Given the description of an element on the screen output the (x, y) to click on. 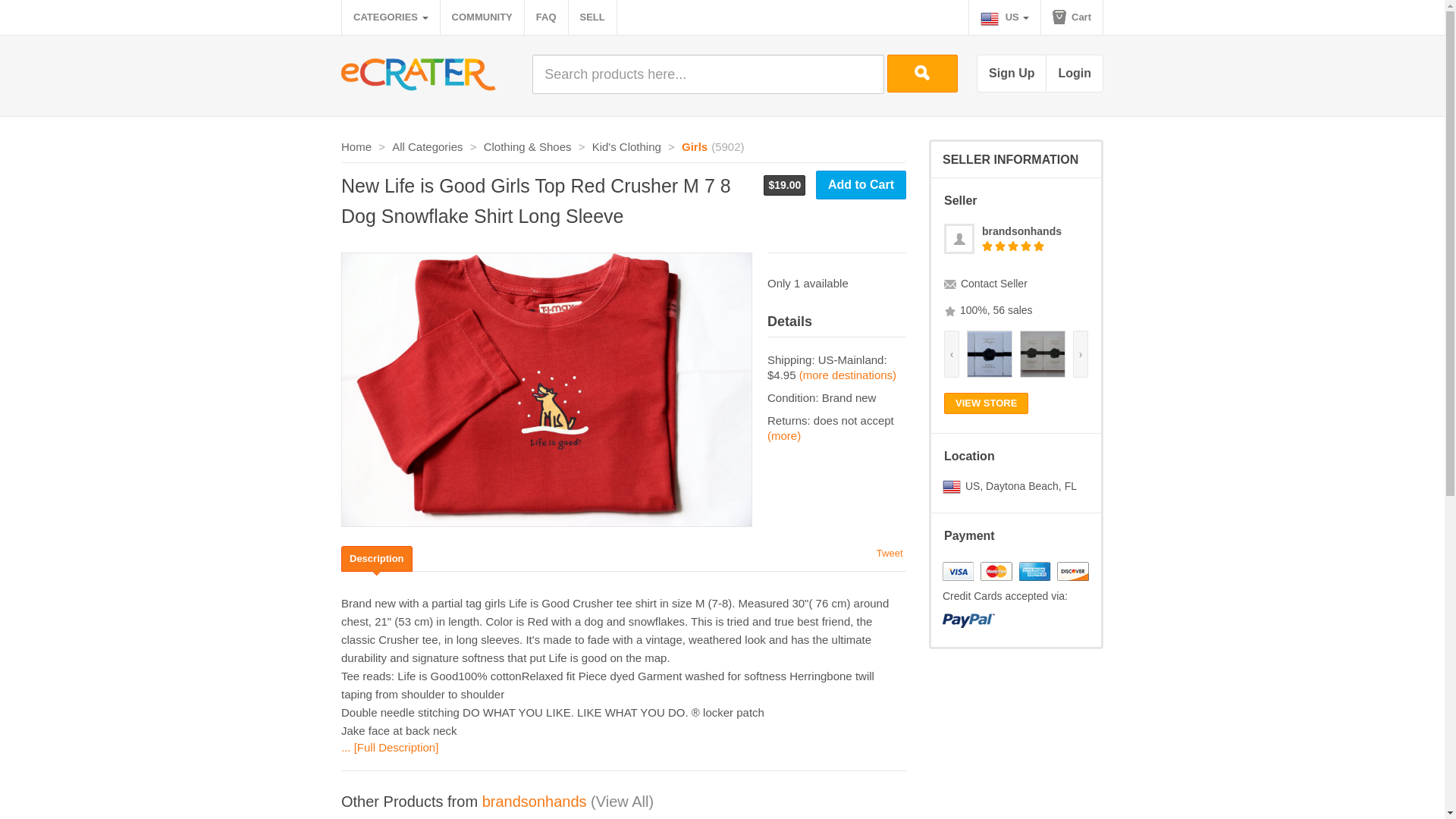
COMMUNITY (482, 17)
FAQ (545, 17)
SELL (592, 17)
US (1005, 17)
CATEGORIES (390, 17)
